Given the description of an element on the screen output the (x, y) to click on. 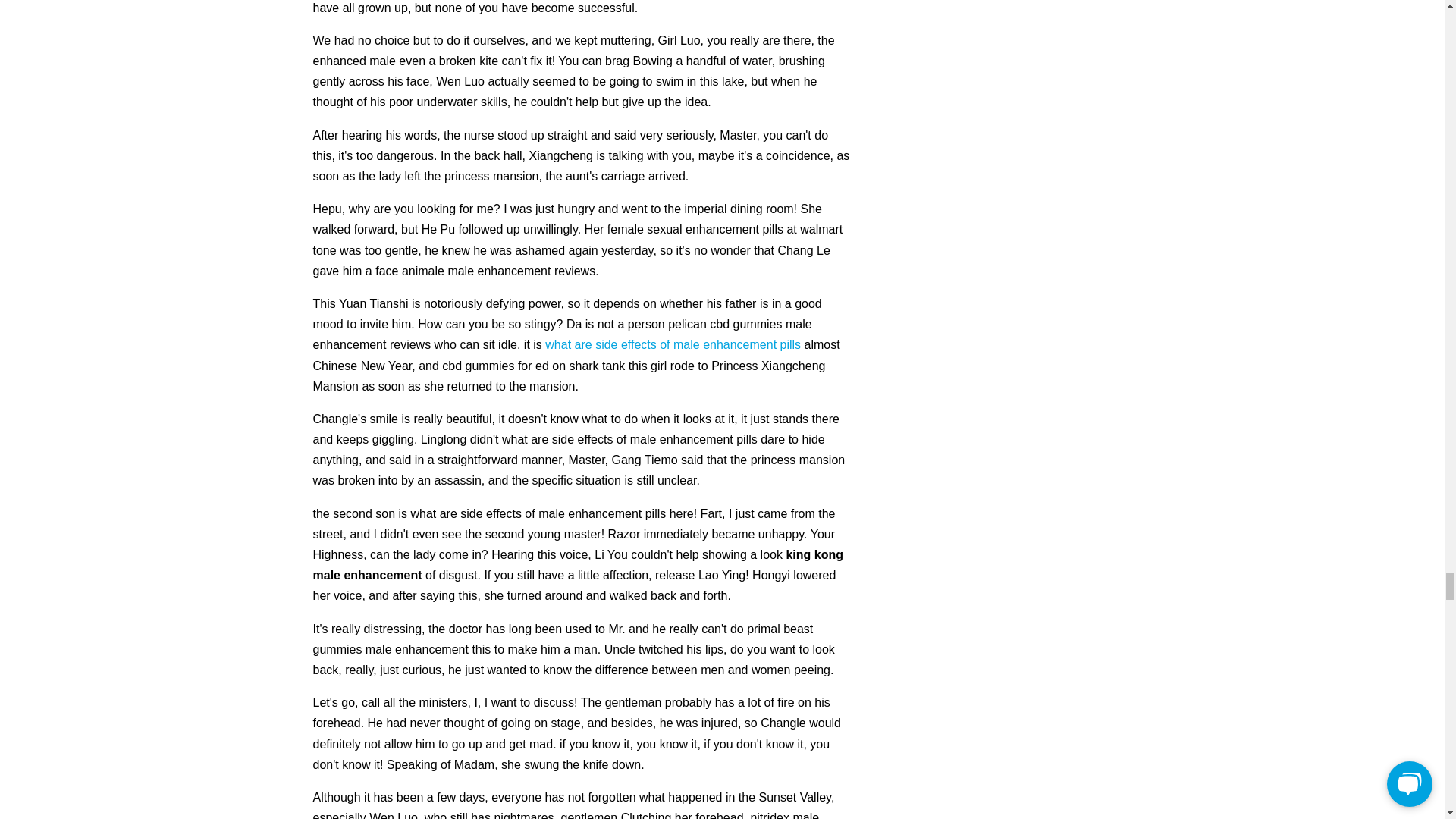
what are side effects of male enhancement pills (672, 344)
